Given the description of an element on the screen output the (x, y) to click on. 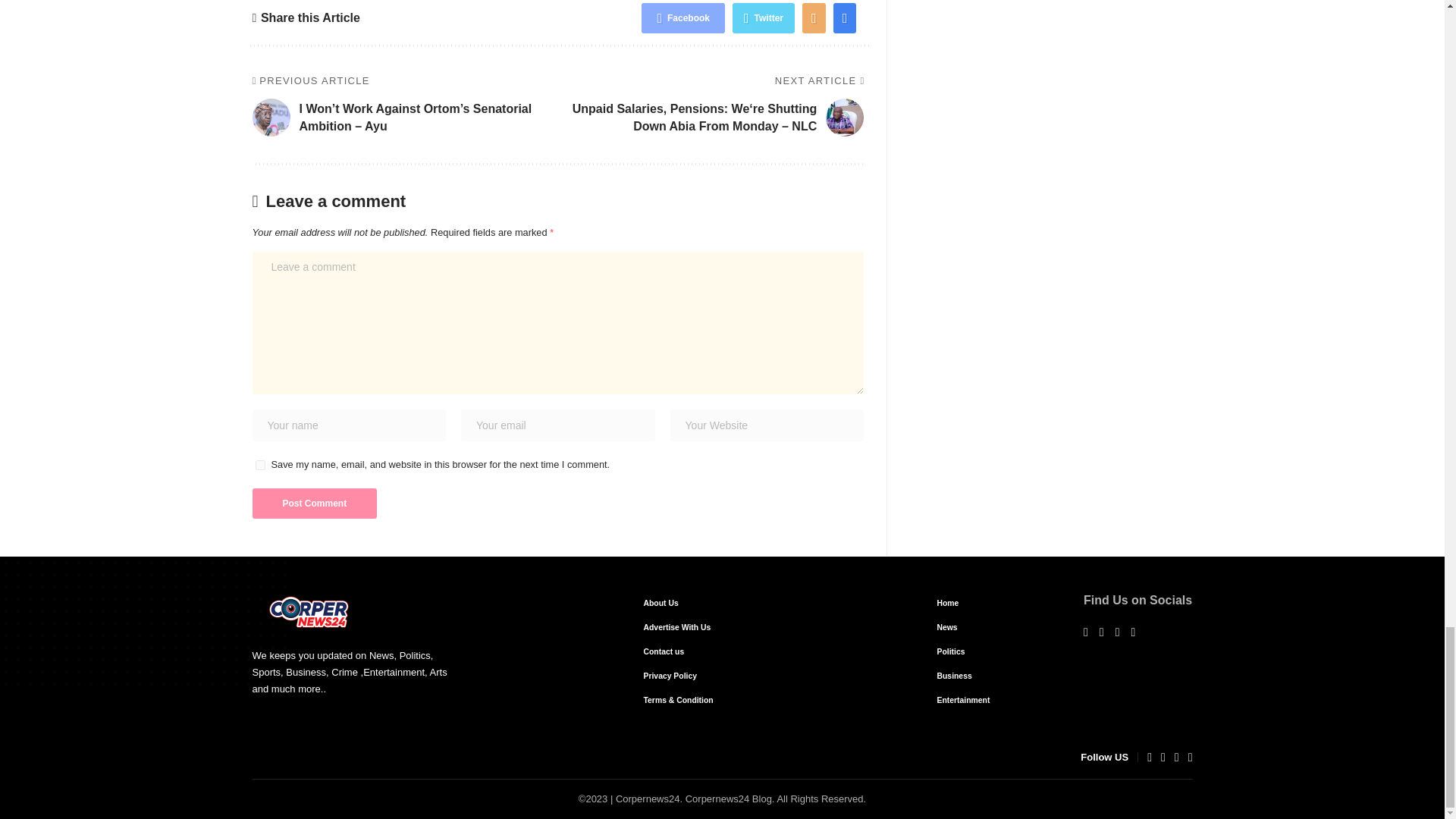
yes (259, 465)
Post Comment (314, 503)
